Given the description of an element on the screen output the (x, y) to click on. 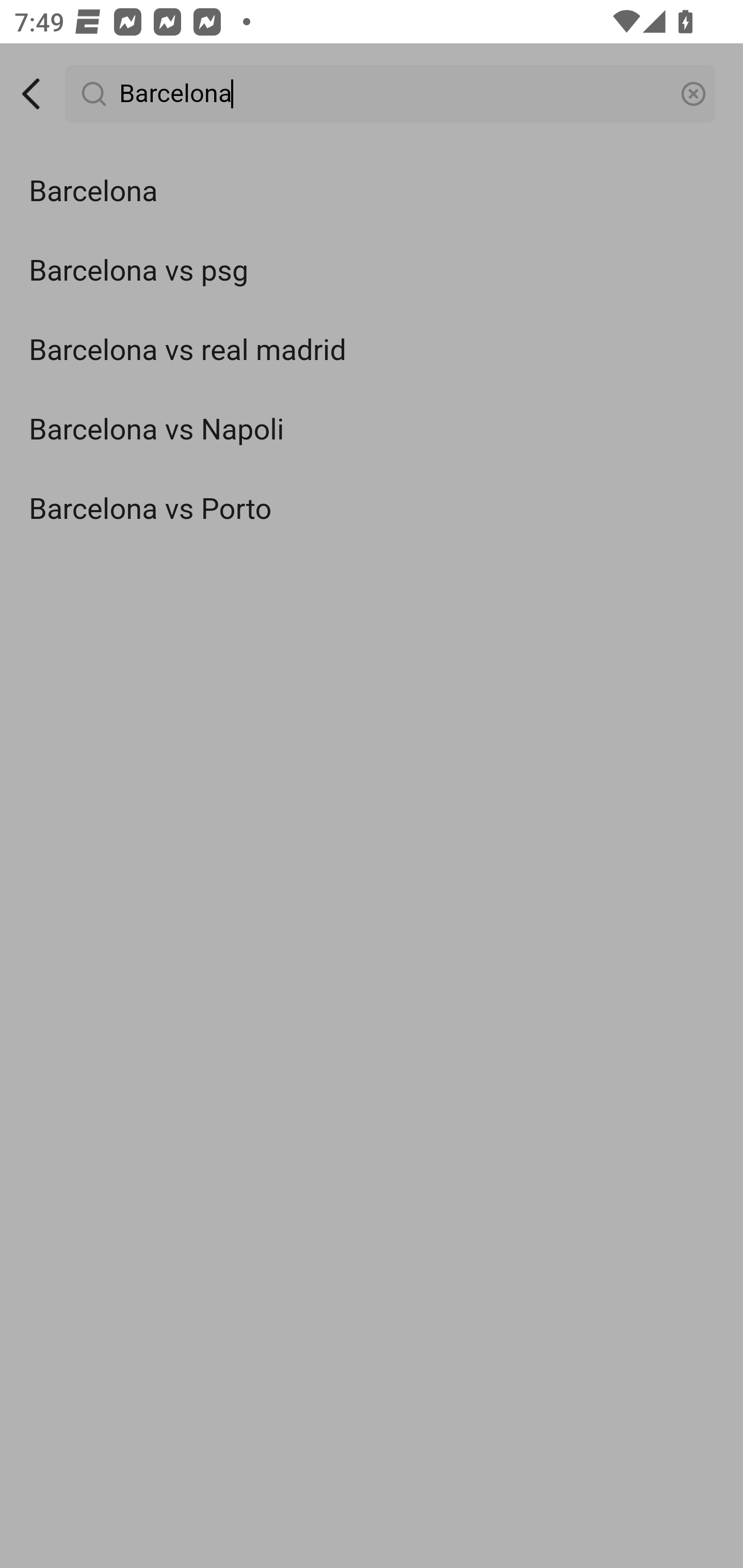
Barcelona (390, 93)
Barcelona (371, 192)
Barcelona vs psg (371, 270)
Barcelona vs real madrid (371, 351)
Barcelona vs Napoli (371, 430)
Barcelona vs Porto (371, 508)
